Given the description of an element on the screen output the (x, y) to click on. 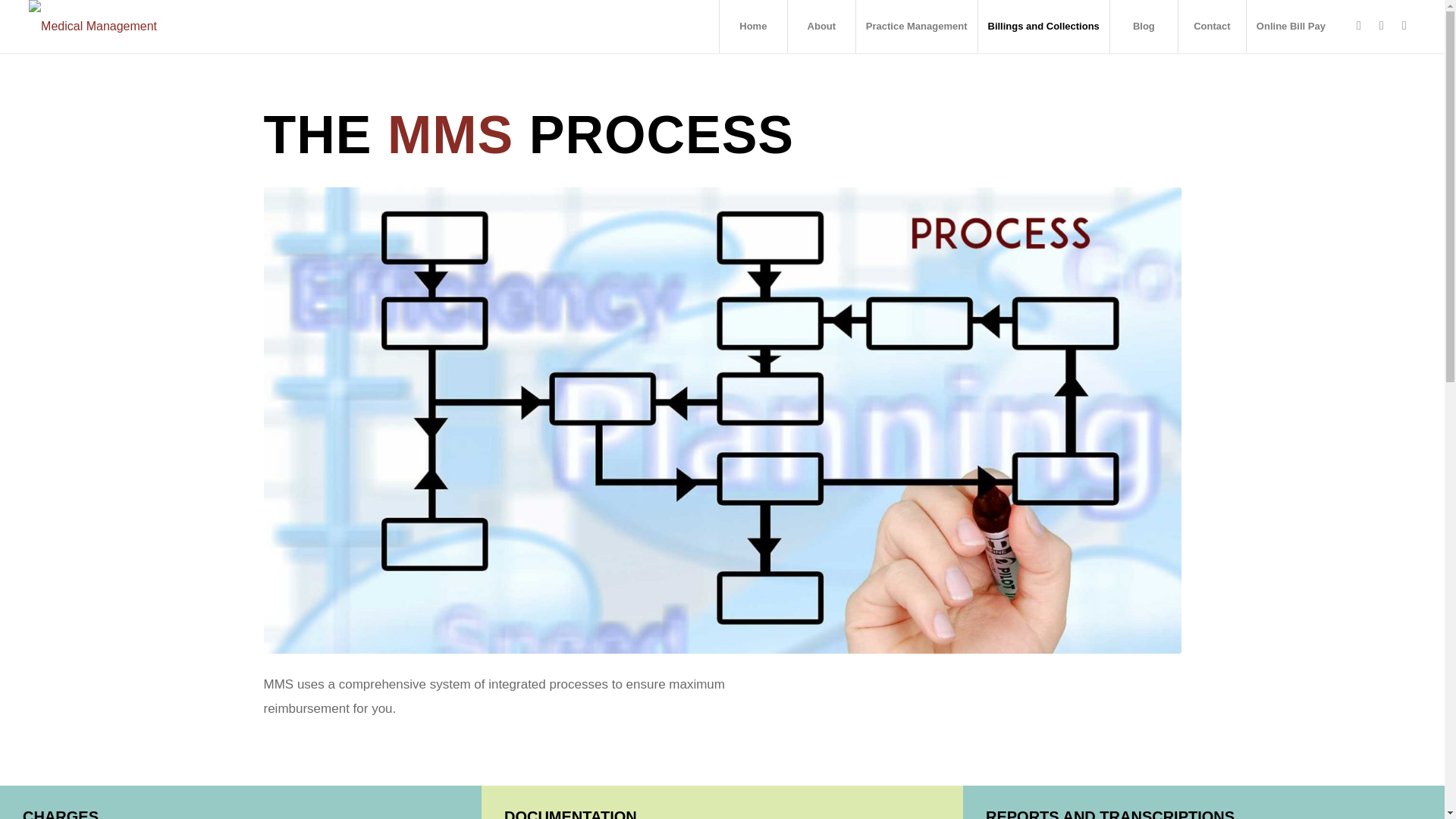
Blog (1143, 26)
Practice Management (916, 26)
Facebook (1359, 25)
Twitter (1381, 25)
Contact (1211, 26)
Mail (1404, 25)
Home (753, 26)
Billings and Collections (1042, 26)
About (821, 26)
Online Bill Pay (1290, 26)
